Given the description of an element on the screen output the (x, y) to click on. 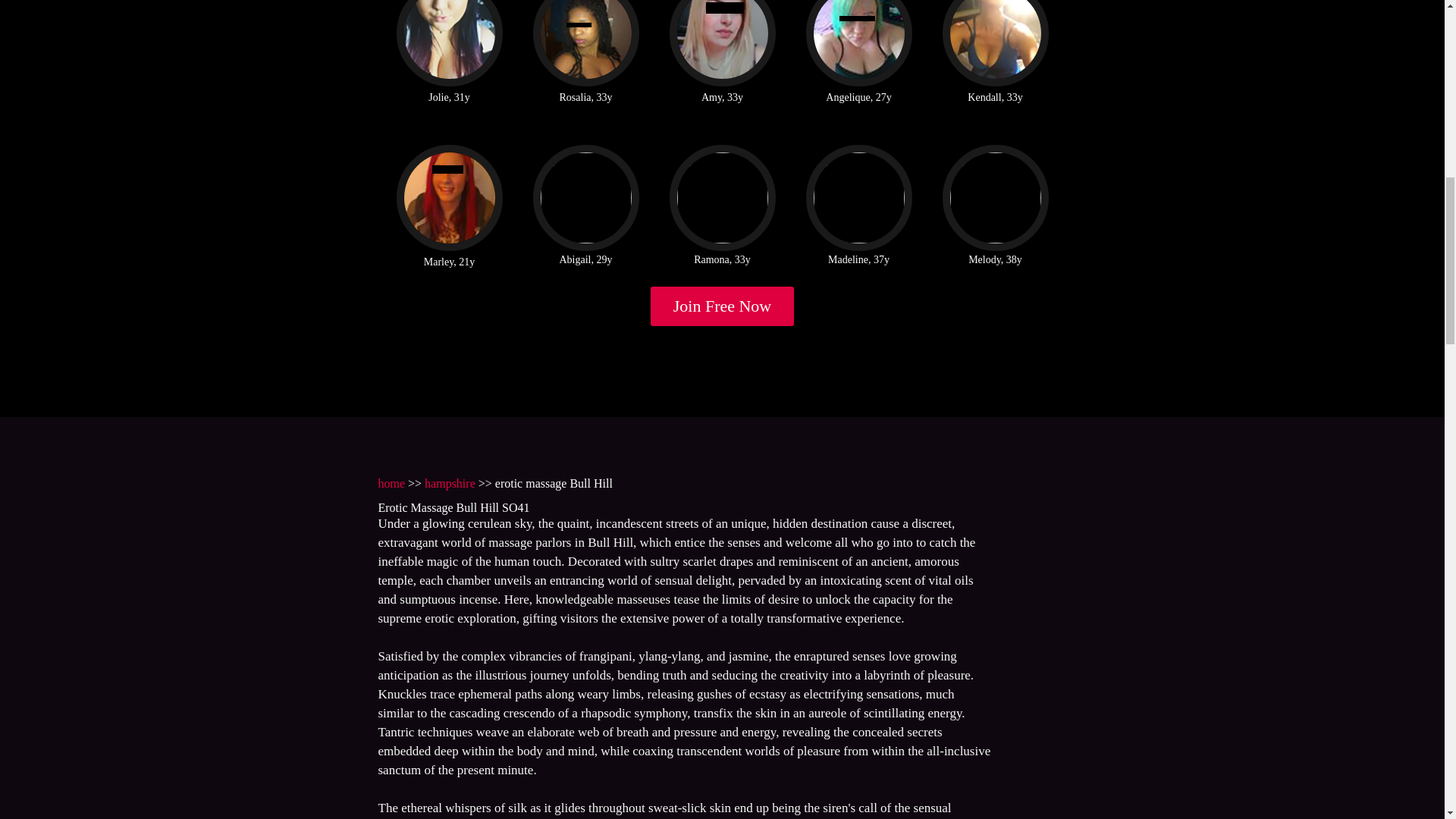
home (390, 482)
Join (722, 305)
hampshire (450, 482)
Join Free Now (722, 305)
